Given the description of an element on the screen output the (x, y) to click on. 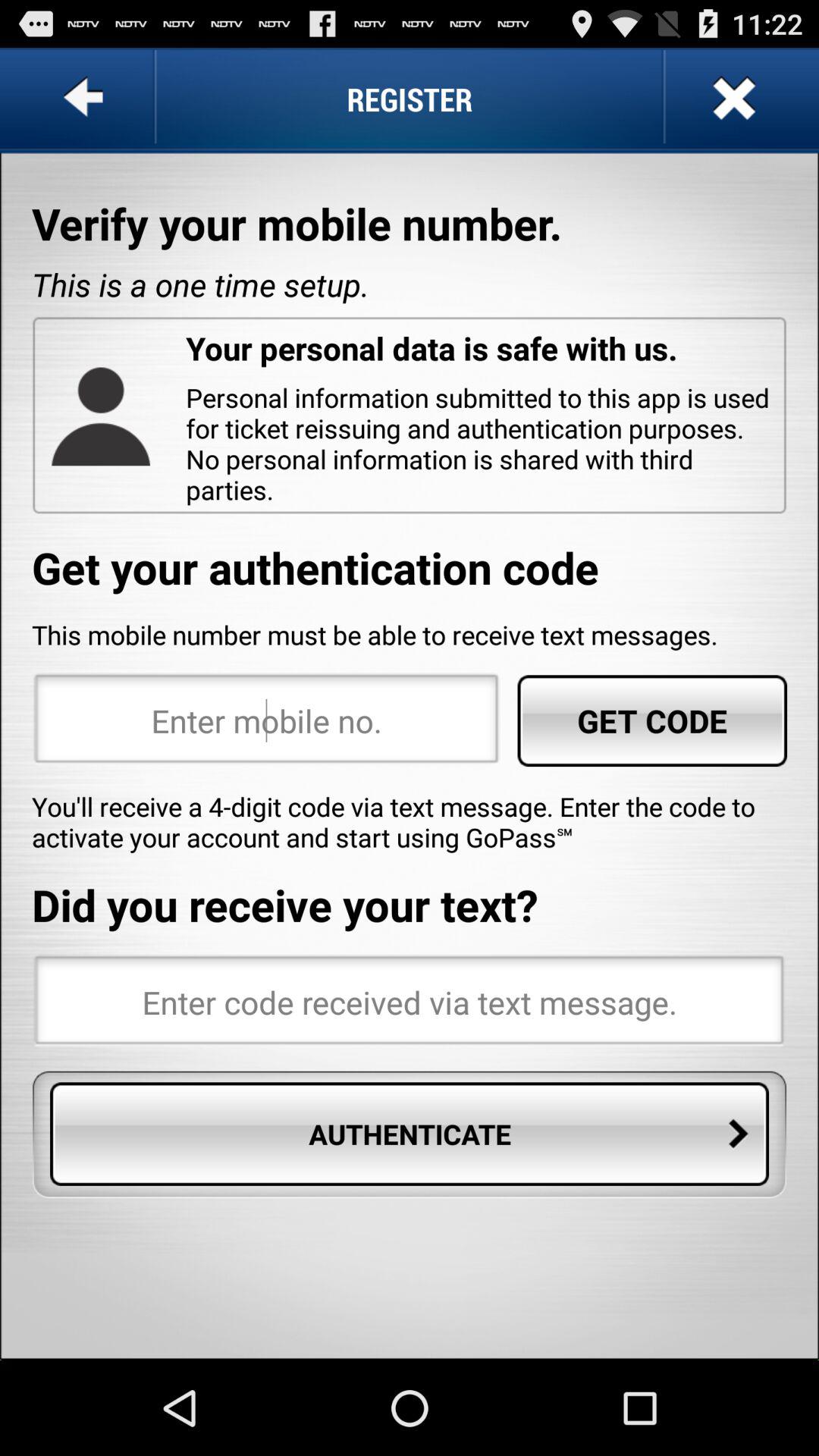
enter code (409, 1001)
